Given the description of an element on the screen output the (x, y) to click on. 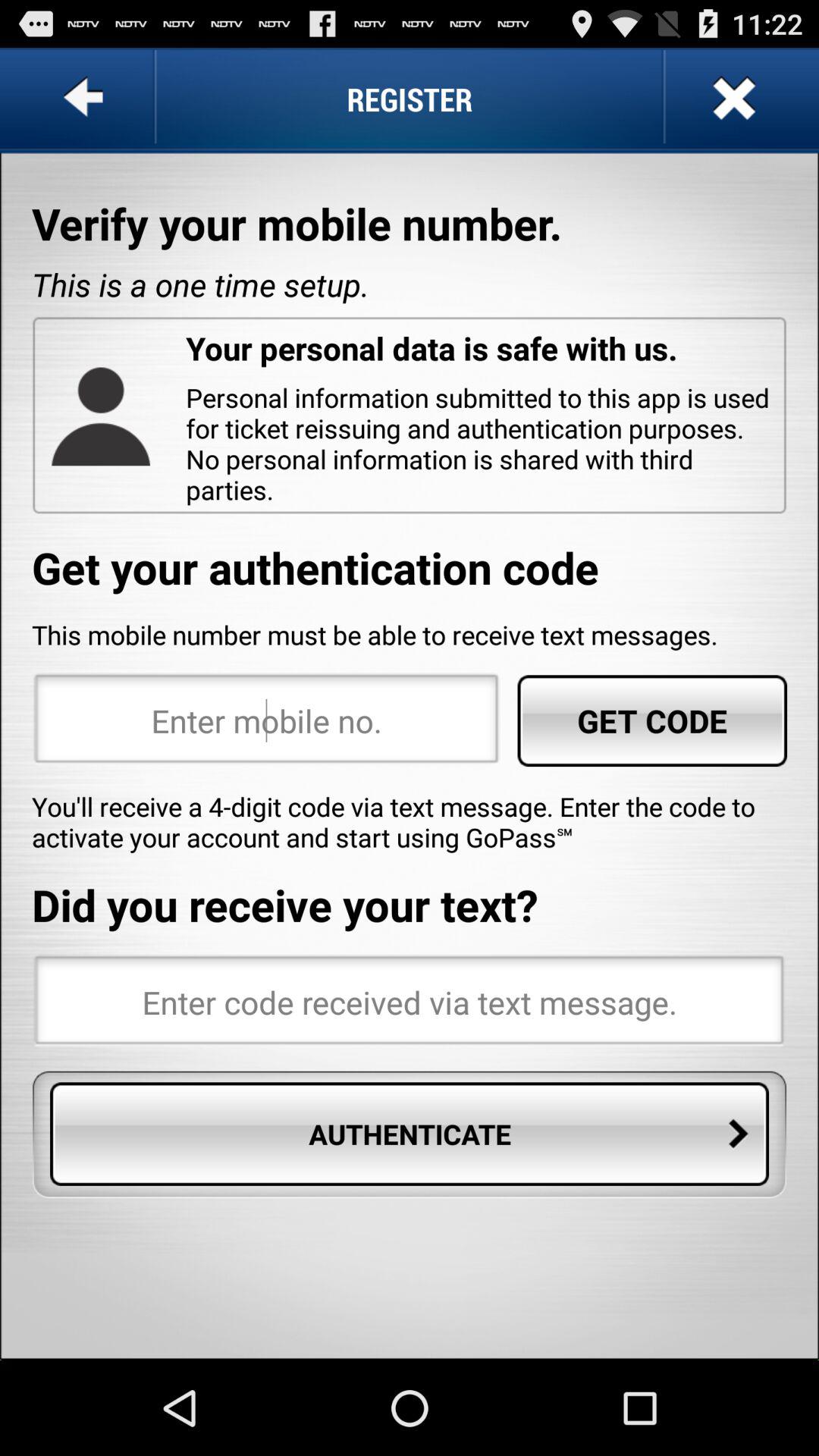
enter code (409, 1001)
